Given the description of an element on the screen output the (x, y) to click on. 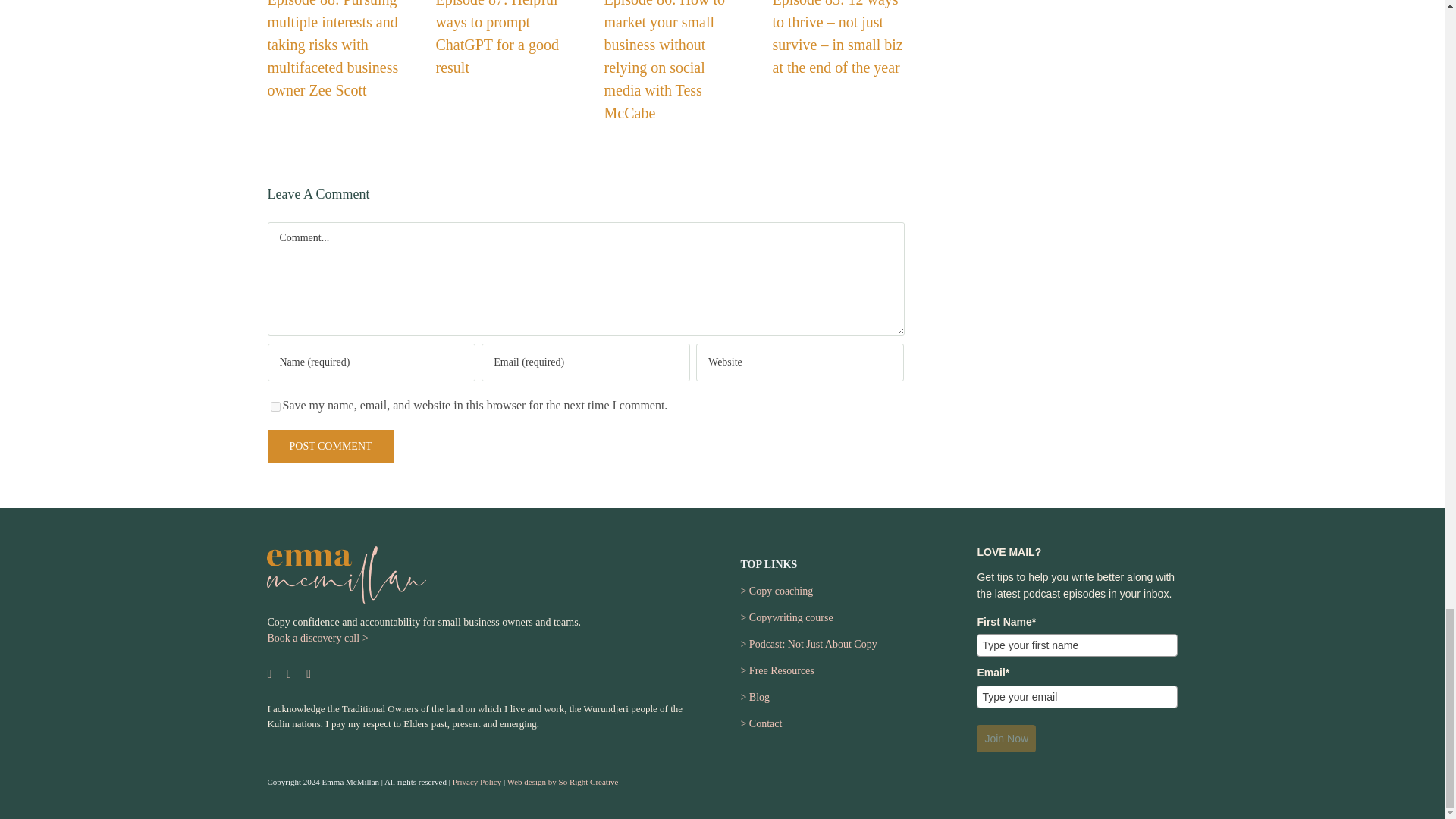
Post Comment (329, 445)
yes (274, 406)
Episode 87: Helpful ways to prompt ChatGPT for a good result (496, 38)
